Given the description of an element on the screen output the (x, y) to click on. 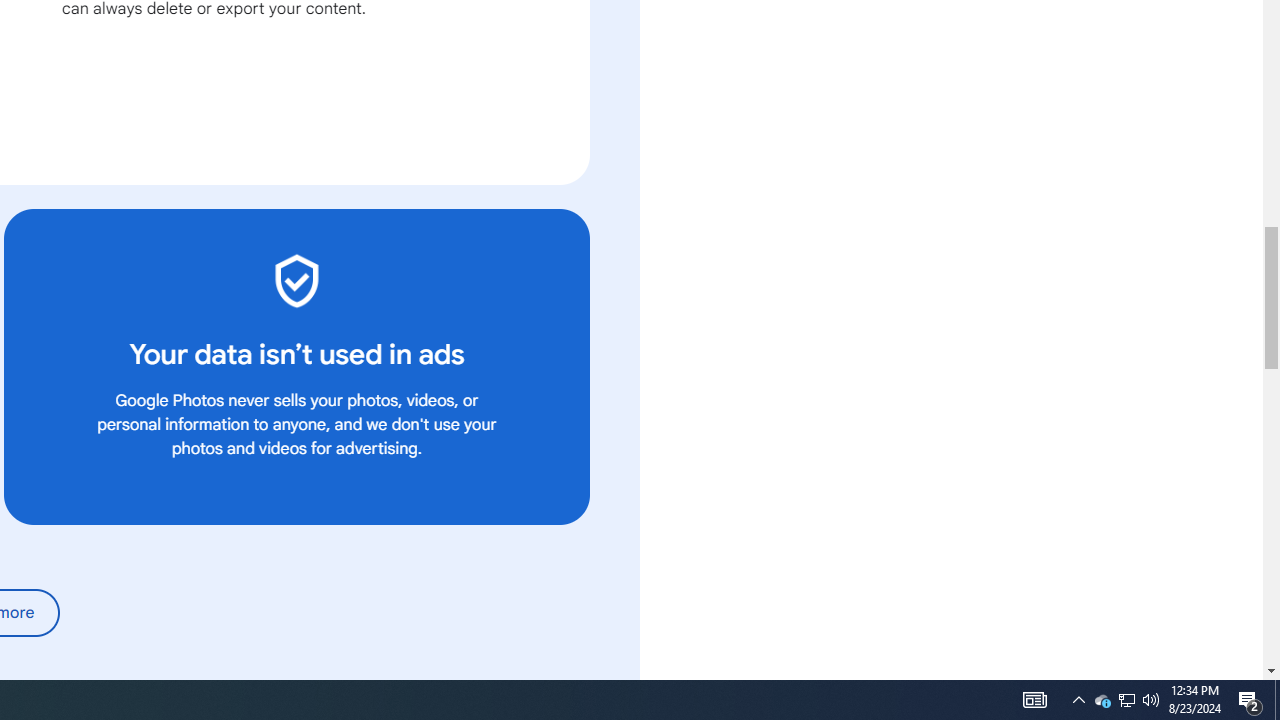
A checkmark icon. (295, 280)
